Given the description of an element on the screen output the (x, y) to click on. 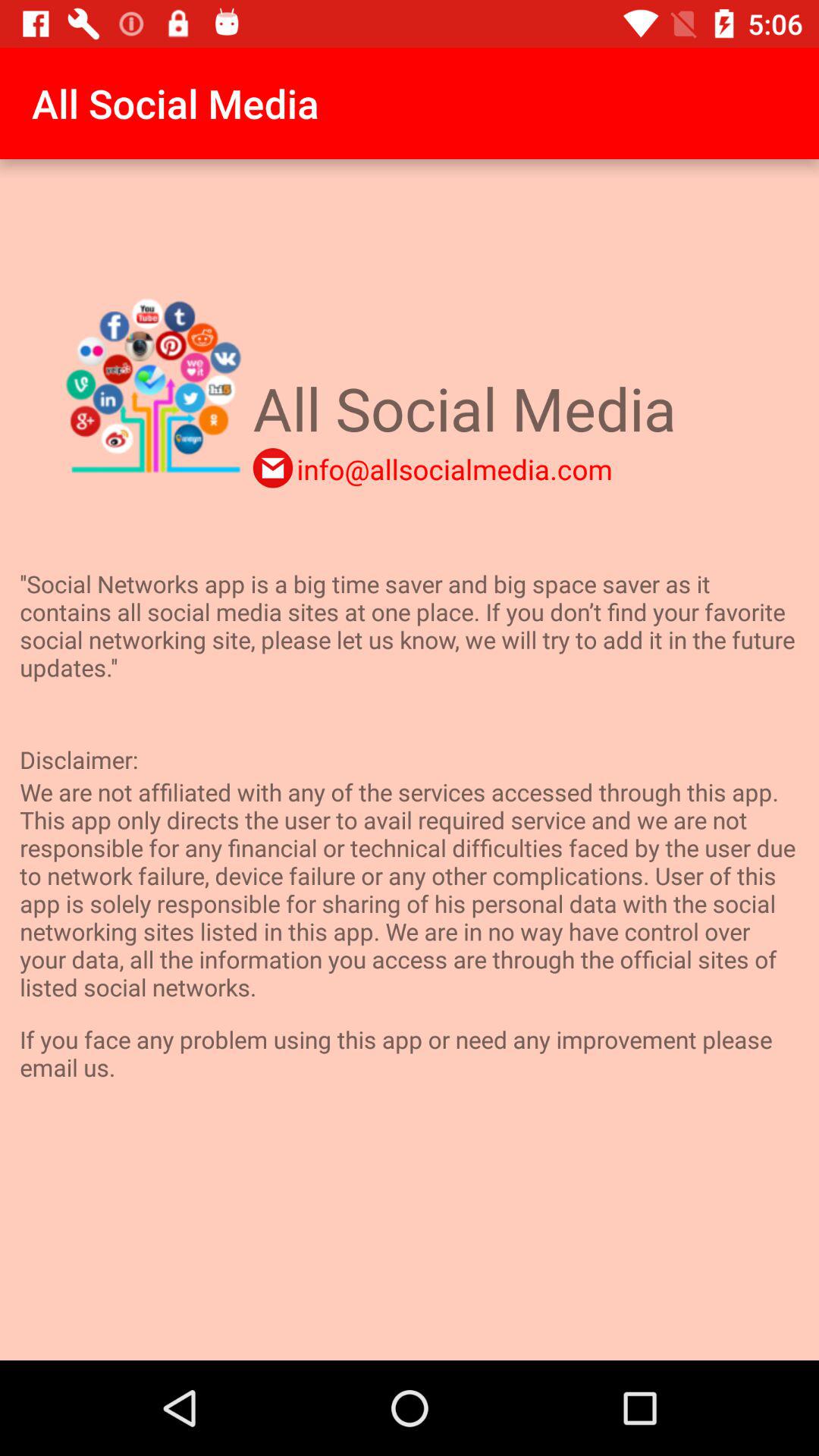
email option (272, 467)
